Given the description of an element on the screen output the (x, y) to click on. 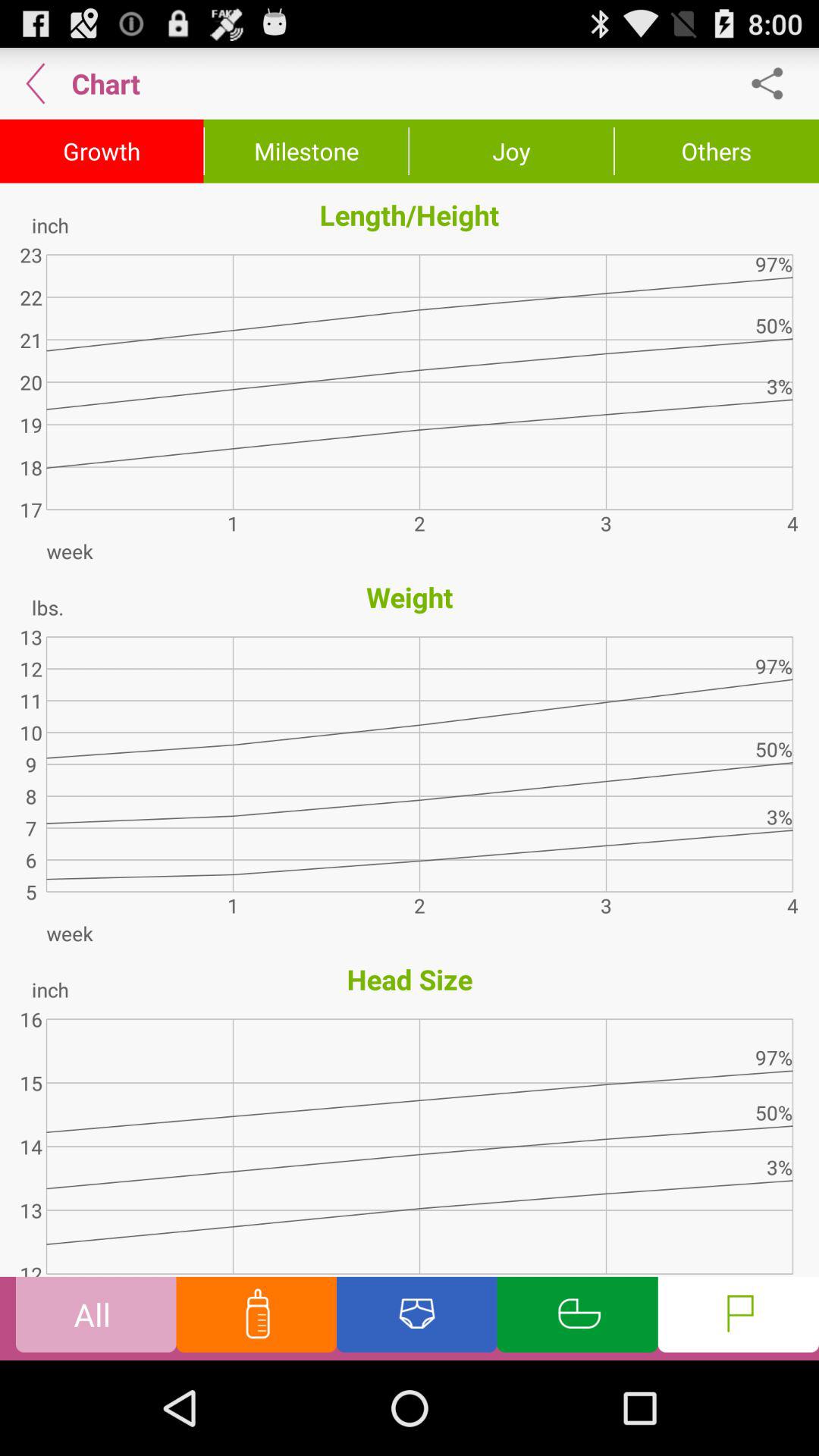
go to previous (35, 83)
